Given the description of an element on the screen output the (x, y) to click on. 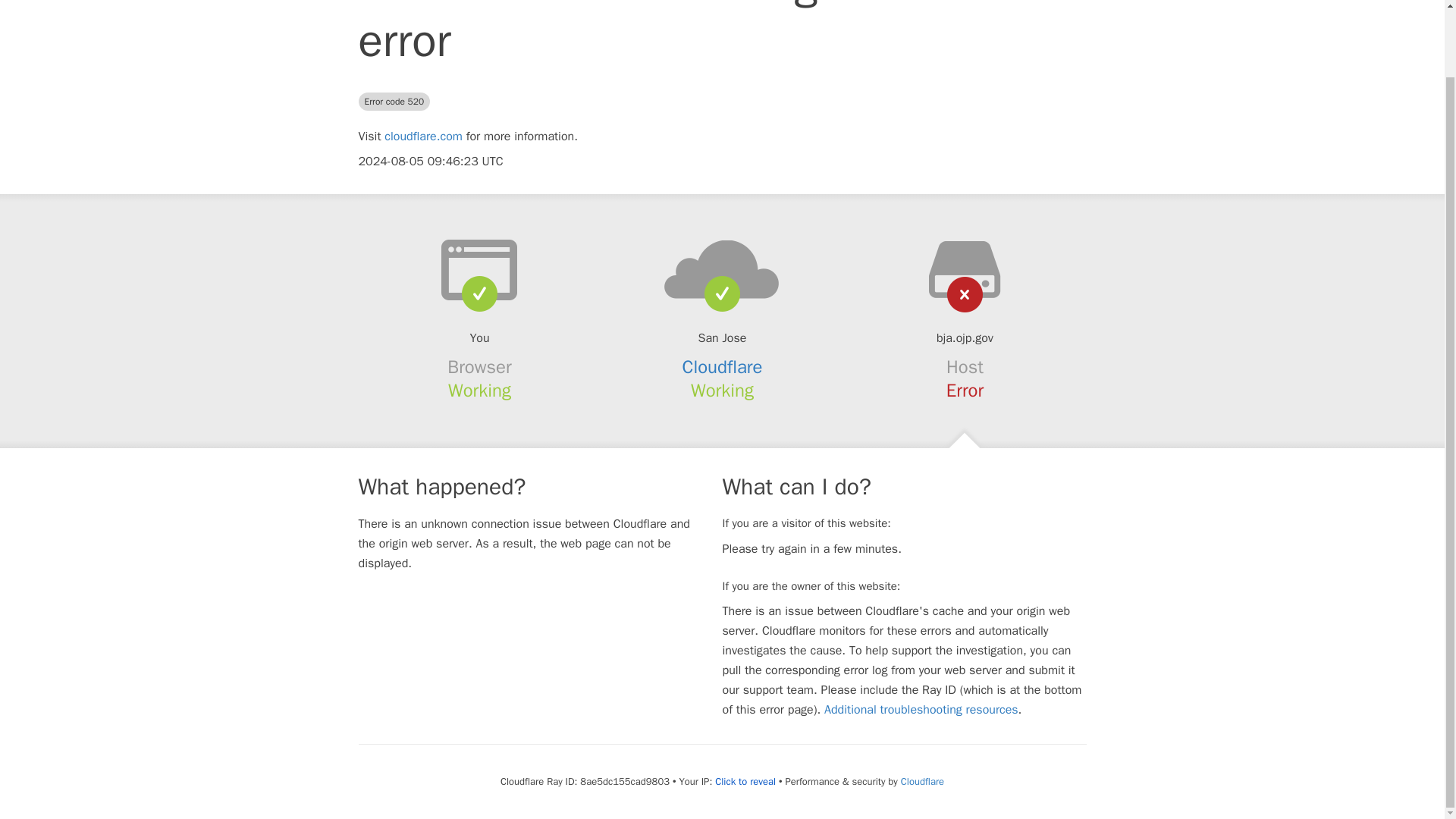
Cloudflare (722, 366)
Click to reveal (745, 781)
Cloudflare (922, 780)
cloudflare.com (423, 136)
Additional troubleshooting resources (920, 709)
